Given the description of an element on the screen output the (x, y) to click on. 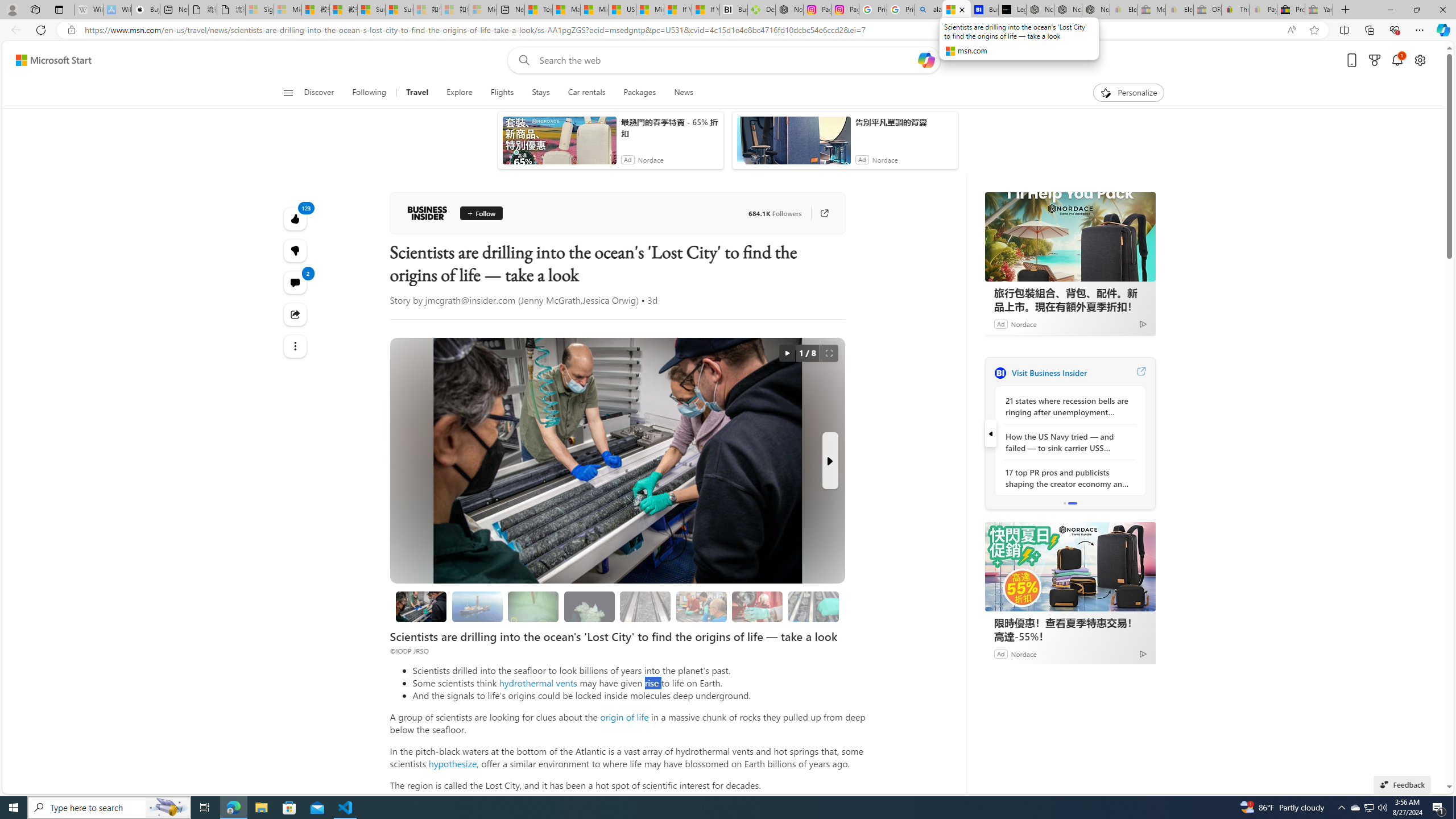
Explore (459, 92)
Car rentals (586, 92)
Follow (481, 213)
123 (295, 250)
Visit Business Insider website (1140, 372)
anim-content (793, 144)
